Given the description of an element on the screen output the (x, y) to click on. 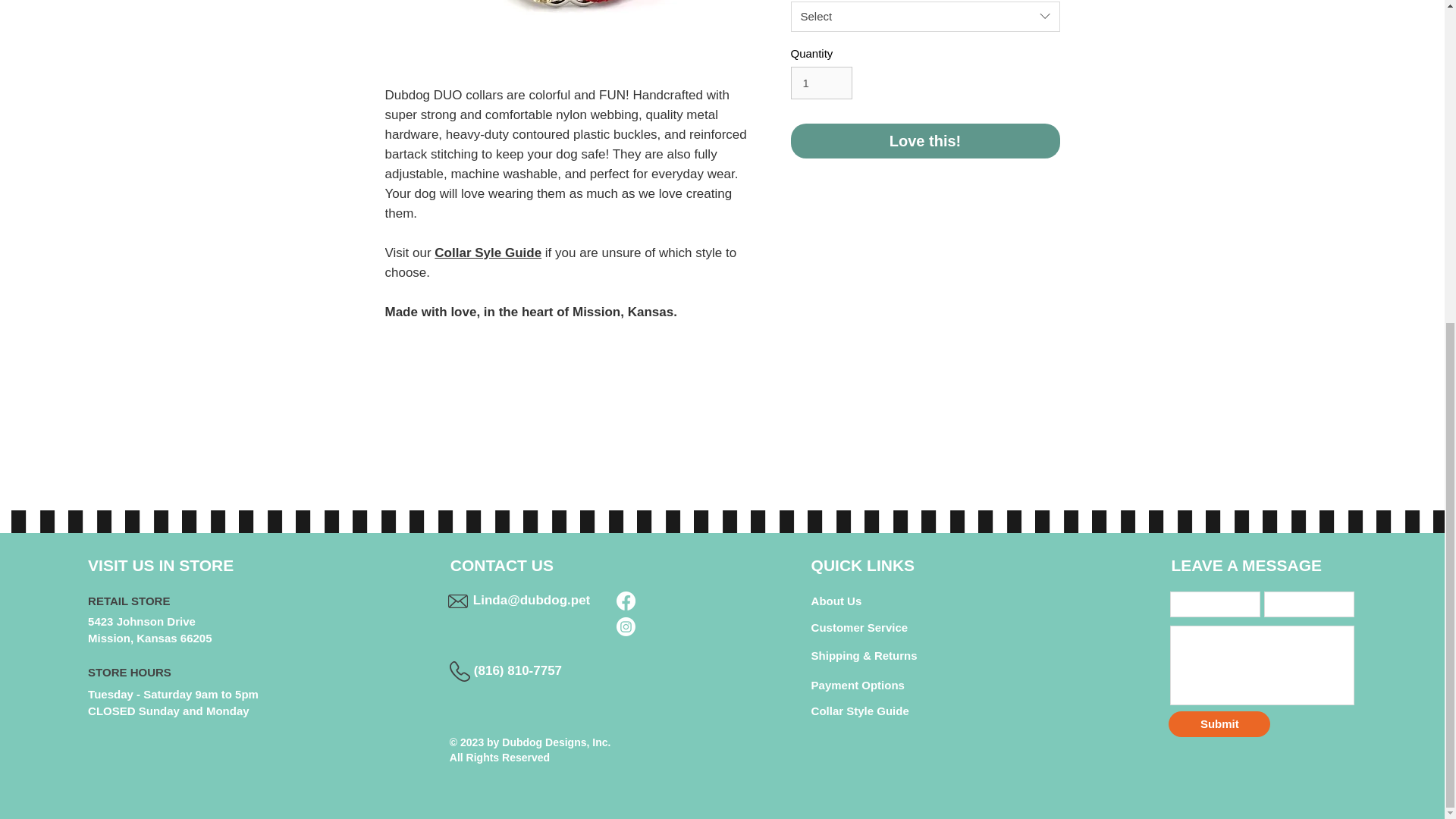
Love this! (924, 140)
Collar Syle Guide (487, 252)
Submit (1219, 724)
Collar Style Guide (859, 711)
Select (924, 16)
Payment Options (857, 685)
About Us (835, 601)
Customer Service (859, 627)
1 (820, 82)
